Given the description of an element on the screen output the (x, y) to click on. 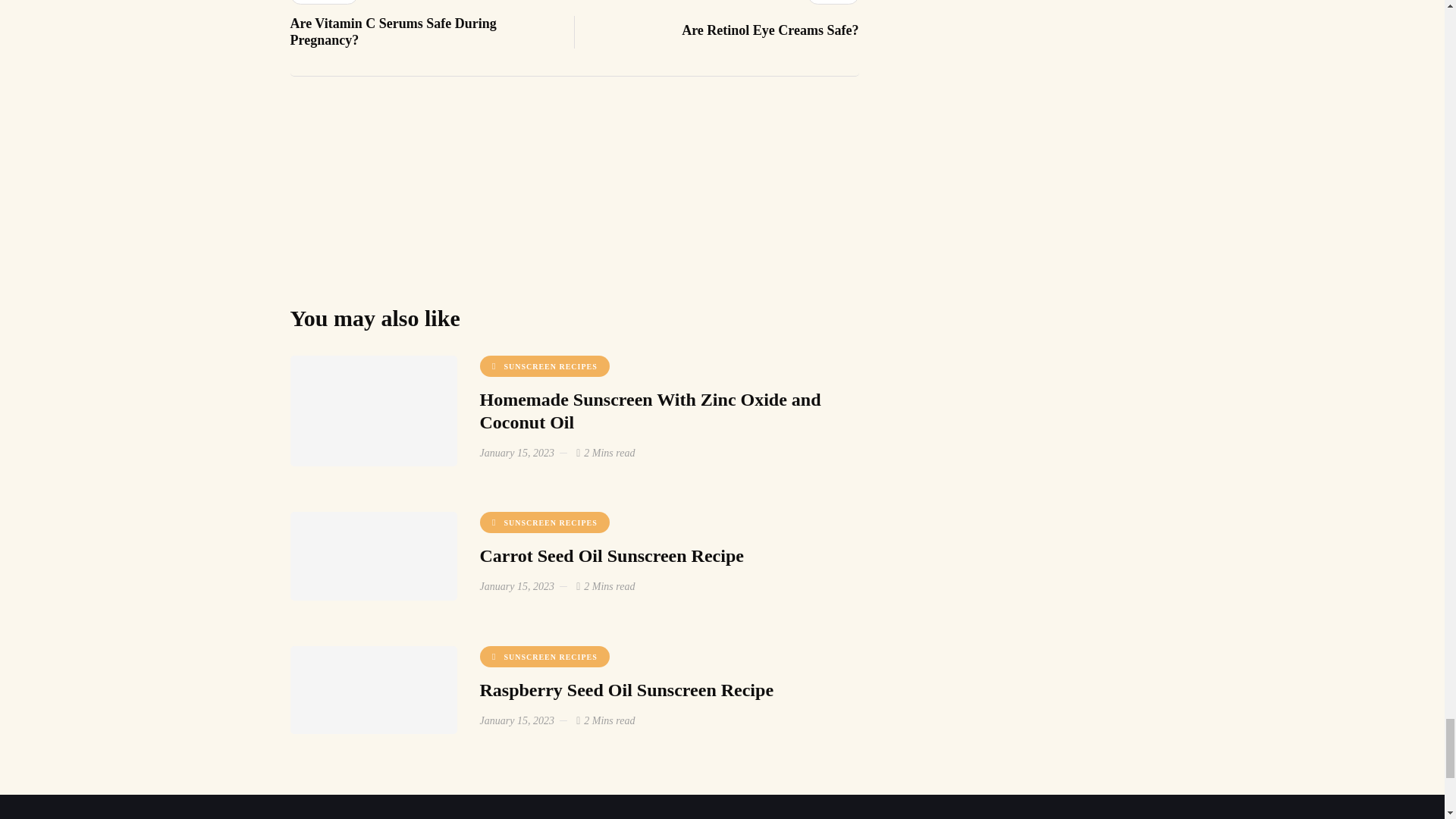
SUNSCREEN RECIPES (543, 365)
Homemade Sunscreen With Zinc Oxide and Coconut Oil (717, 22)
